Given the description of an element on the screen output the (x, y) to click on. 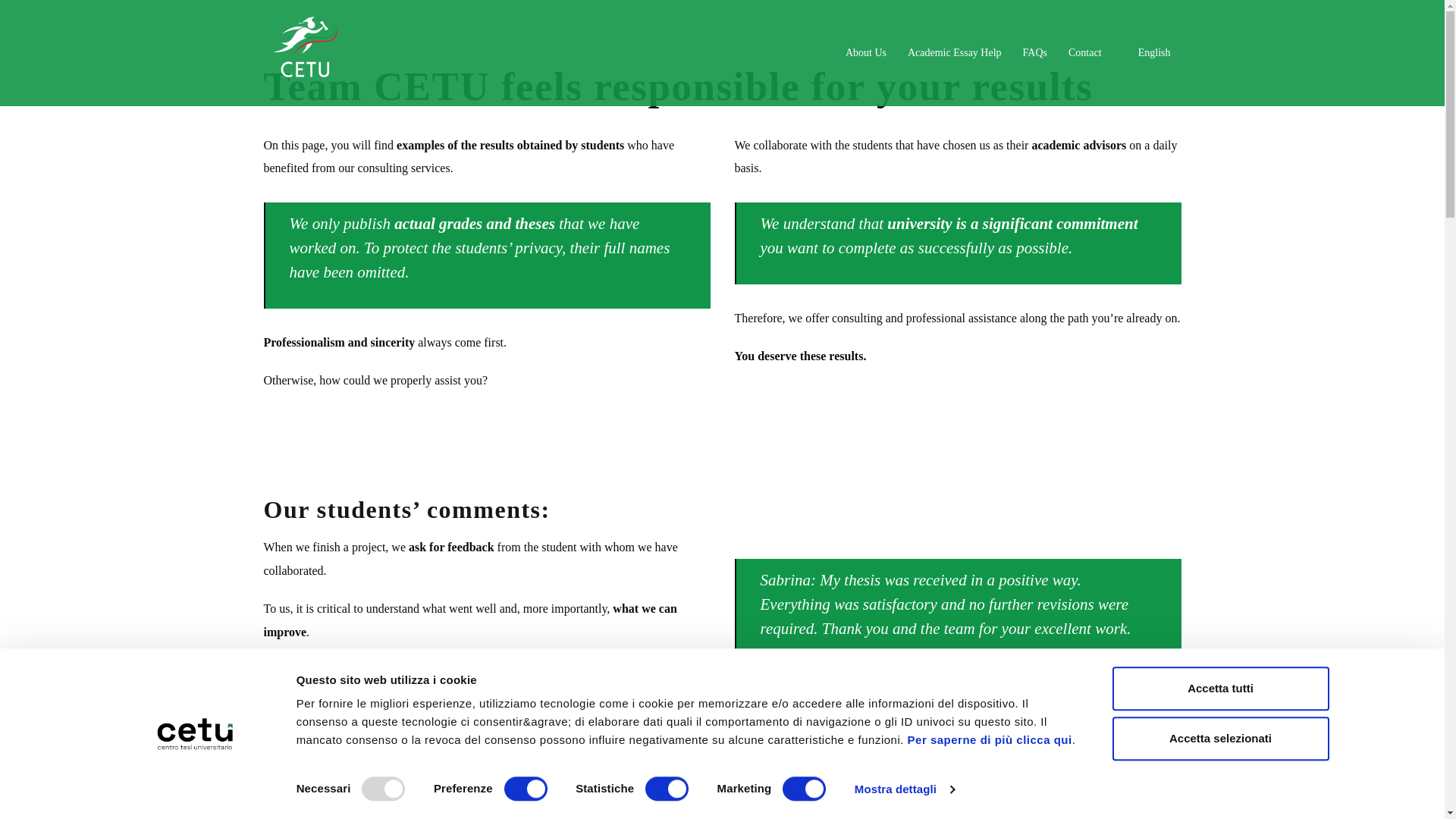
About Us (865, 53)
Accetta tutti (1219, 688)
Mostra dettagli (904, 789)
Academic Essay Help (954, 53)
Accetta selezionati (1219, 738)
CETU (304, 51)
